Given the description of an element on the screen output the (x, y) to click on. 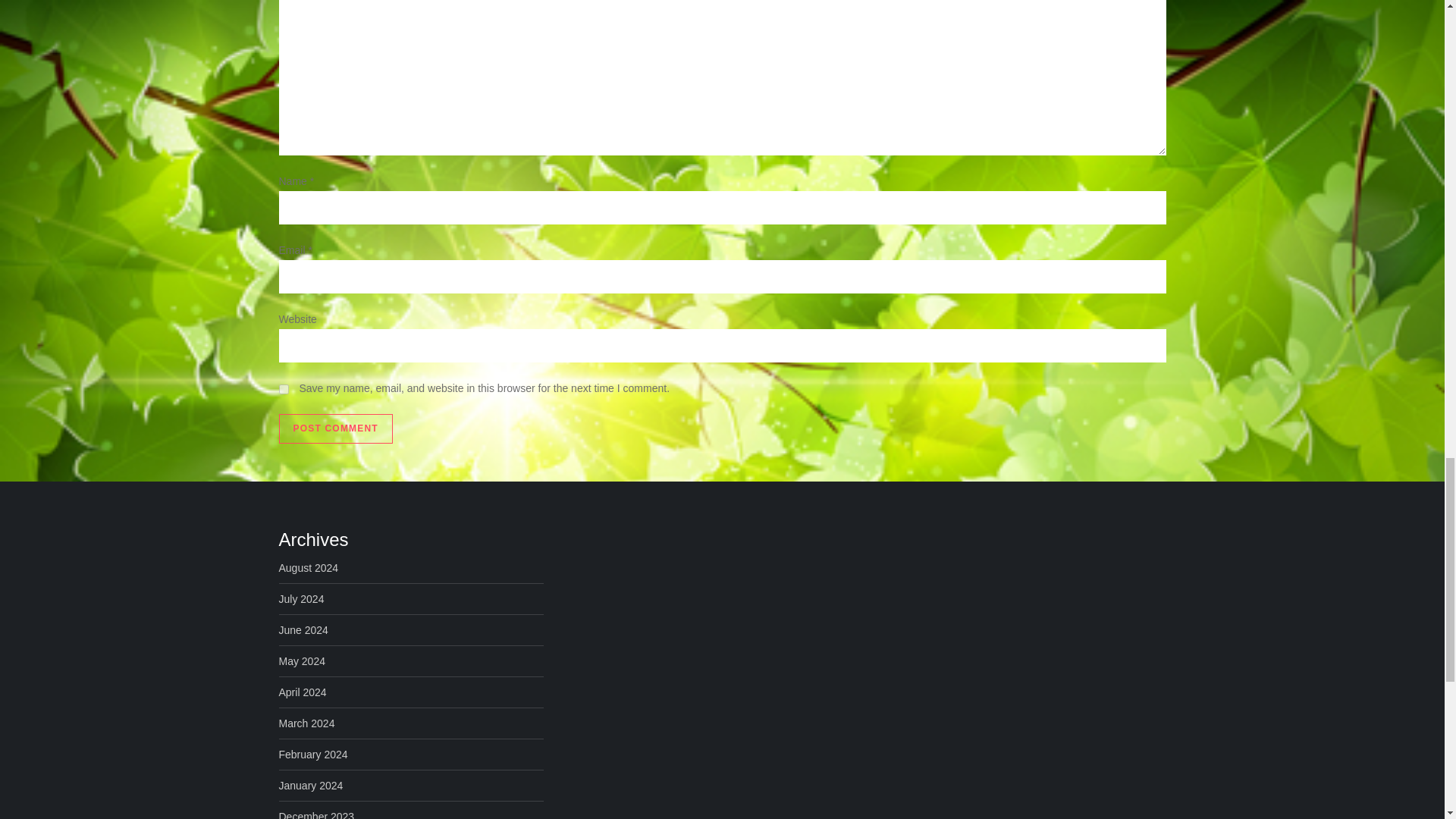
Post Comment (336, 429)
yes (283, 388)
August 2024 (309, 567)
Post Comment (336, 429)
July 2024 (301, 598)
June 2024 (304, 629)
April 2024 (302, 691)
May 2024 (301, 660)
